Given the description of an element on the screen output the (x, y) to click on. 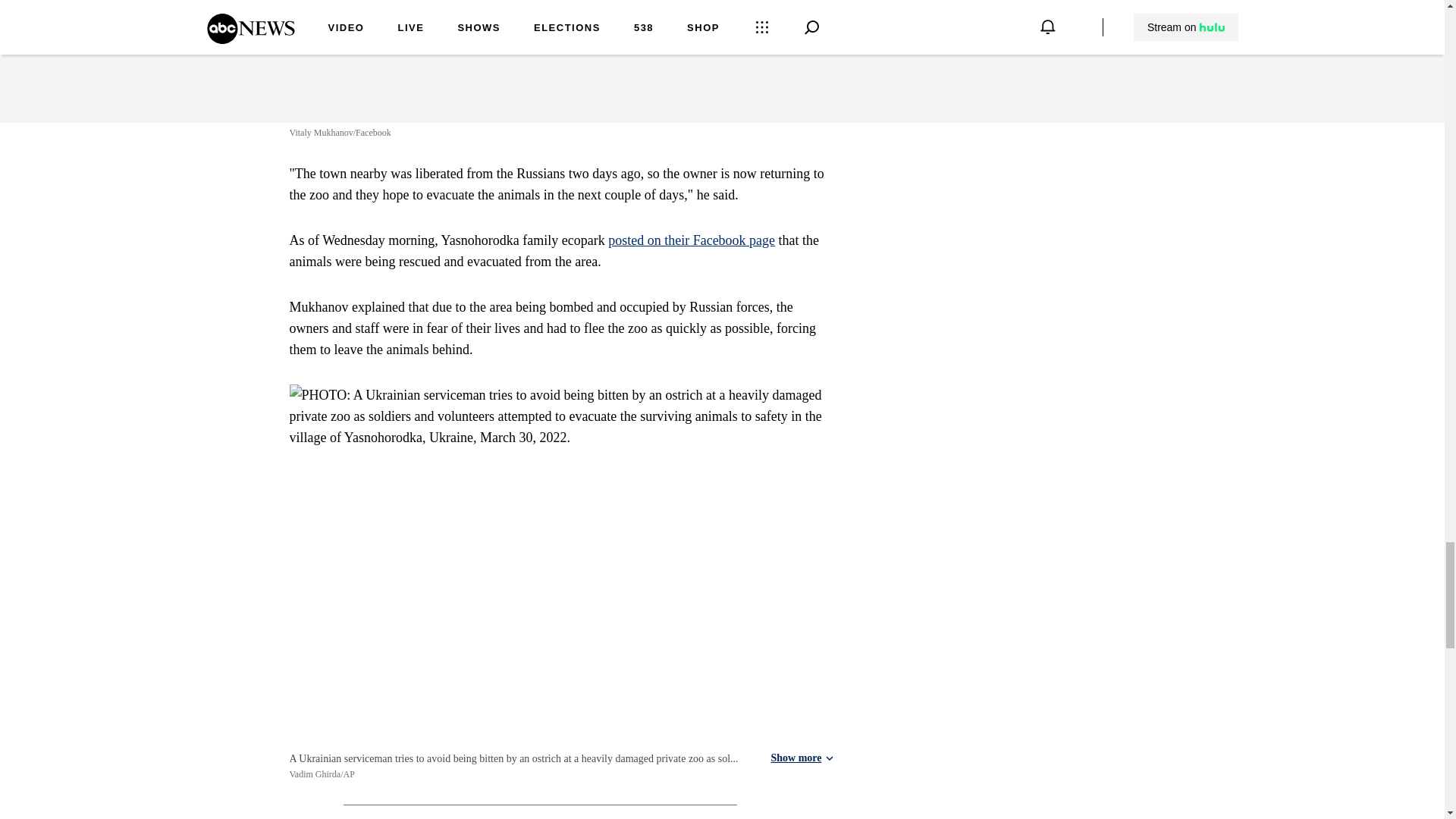
posted on their Facebook page (691, 239)
Show more (801, 758)
Show more (801, 116)
